Given the description of an element on the screen output the (x, y) to click on. 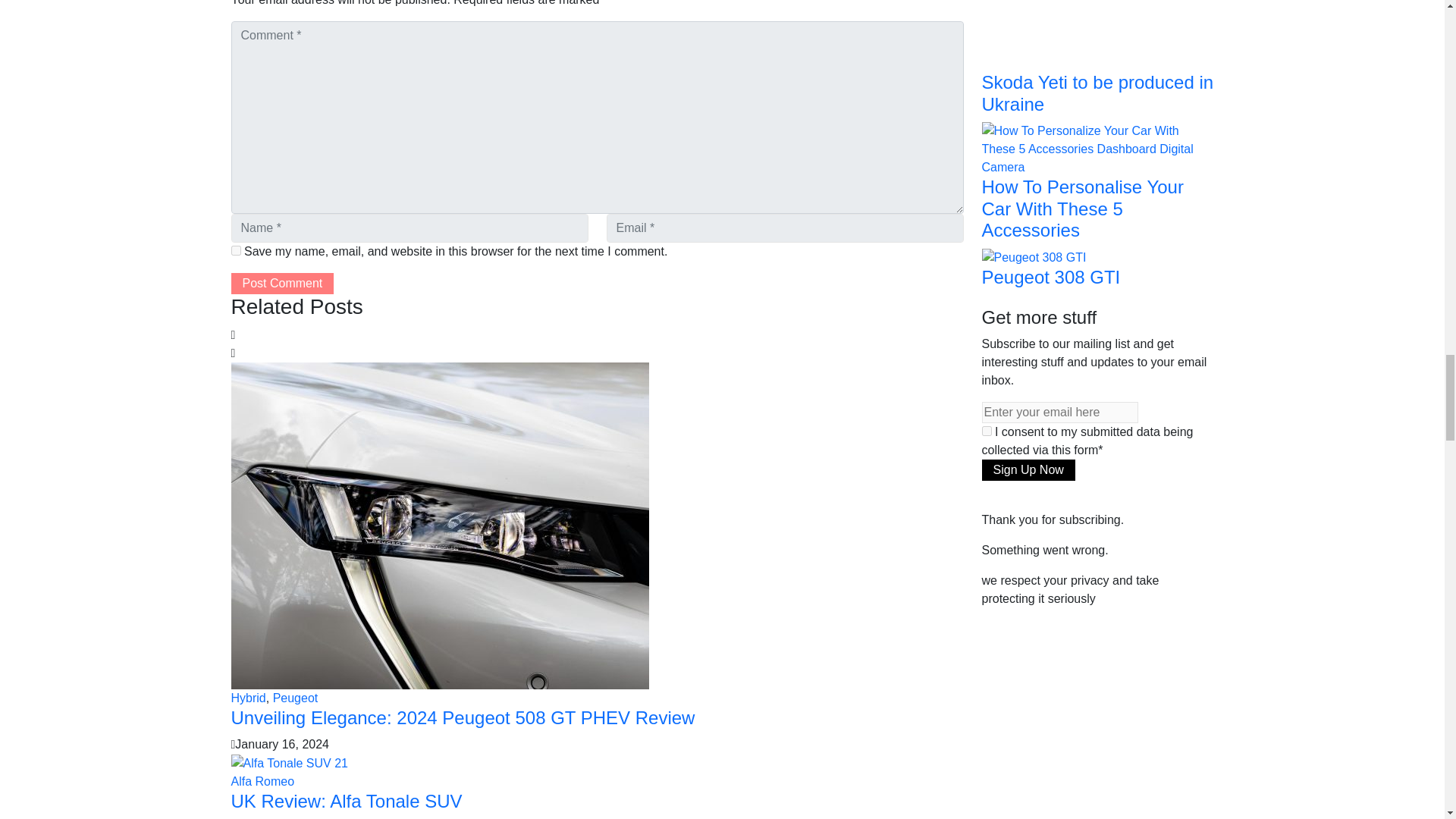
Sign Up Now (1027, 469)
on (986, 430)
yes (235, 250)
Post Comment (281, 283)
